Given the description of an element on the screen output the (x, y) to click on. 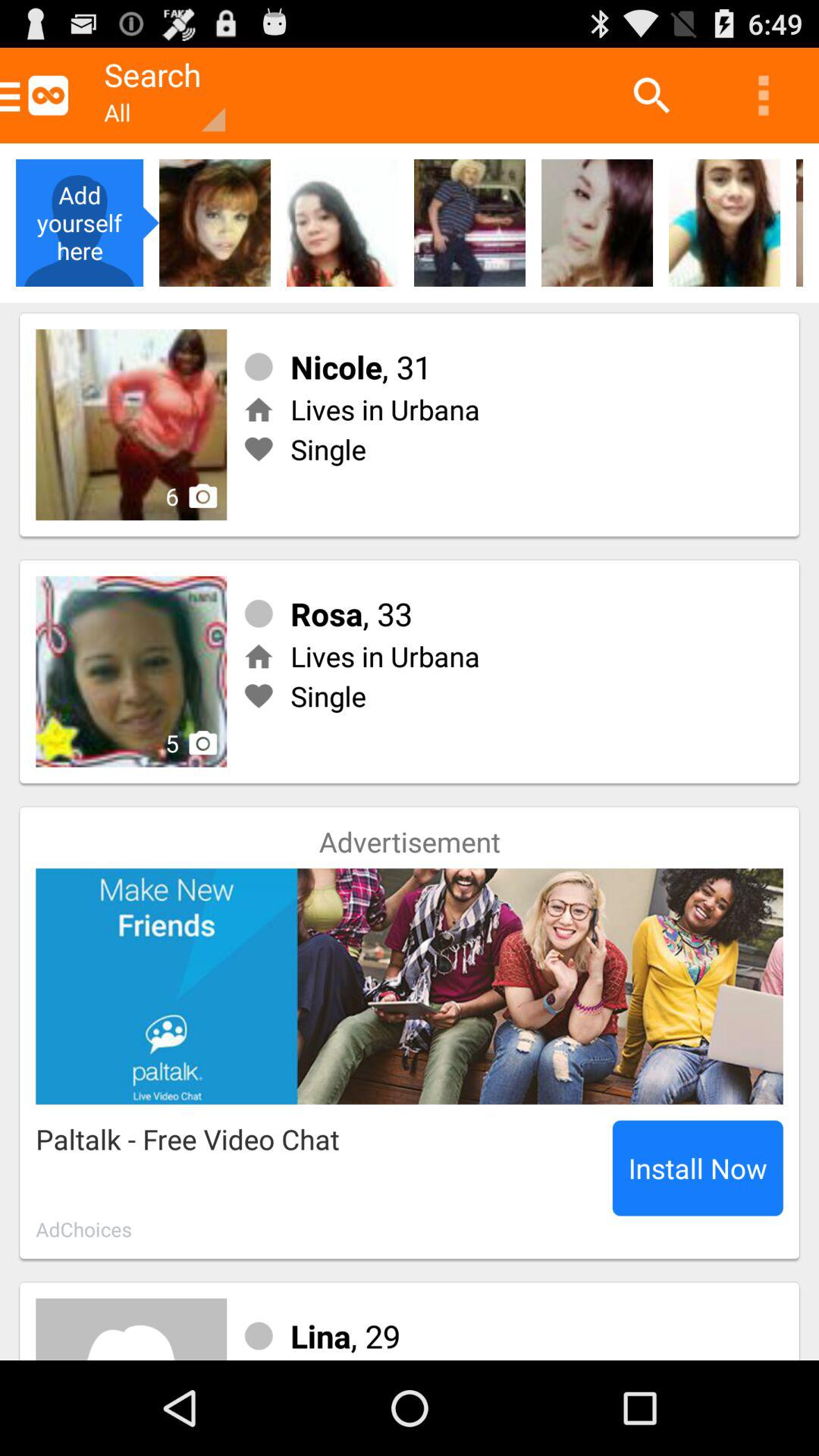
below the icon line (596, 222)
click on the image left to nicole 31 (131, 424)
click the text in the orange color box (156, 95)
